Given the description of an element on the screen output the (x, y) to click on. 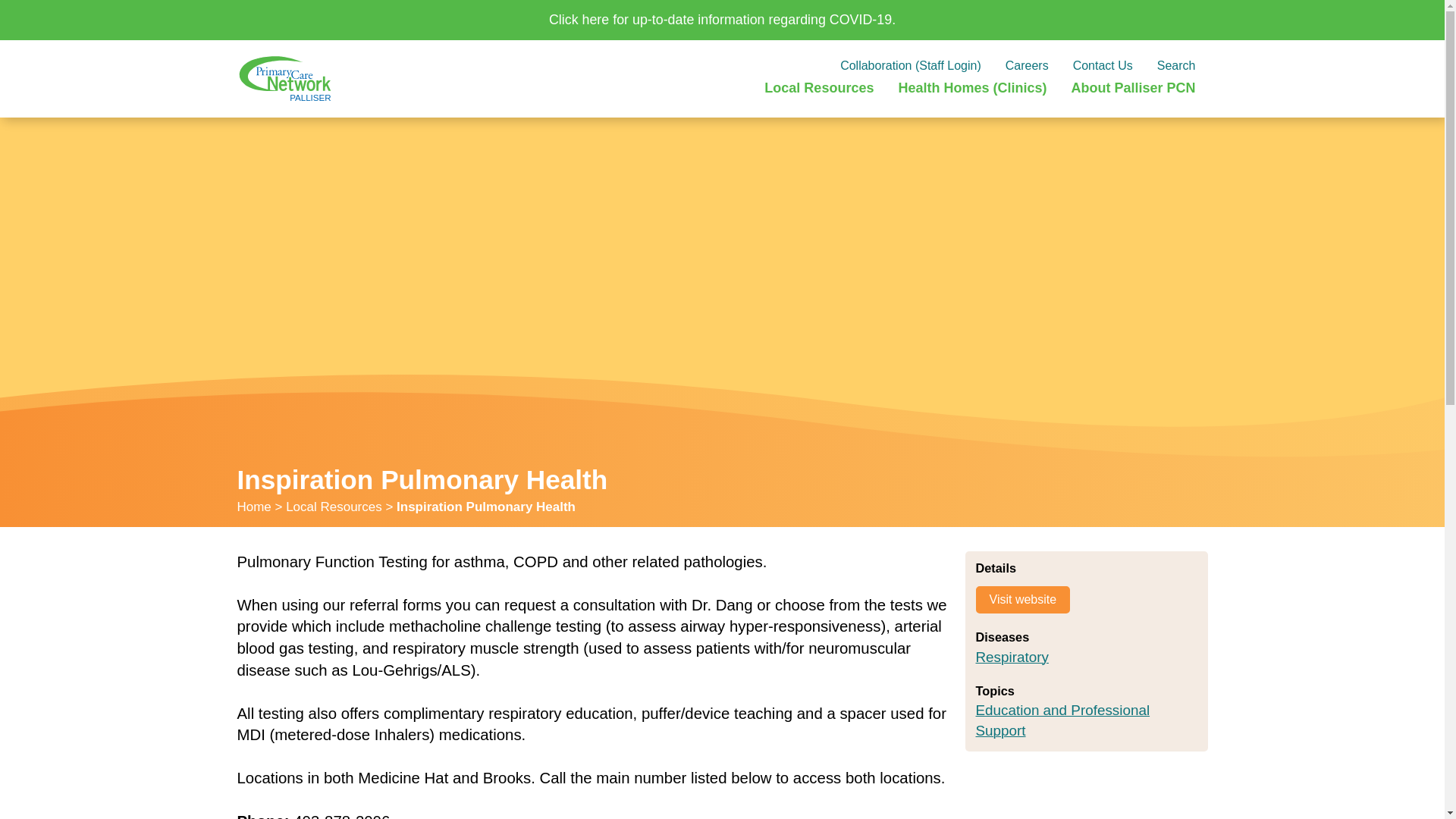
Local Resources (333, 506)
Palliser Primary Care Network (283, 78)
Contact Us (1102, 66)
Local Resources (818, 88)
Go to Local Resources. (333, 506)
Click here for up-to-date information regarding COVID-19. (721, 20)
Visit website (1022, 599)
Local Resources (818, 88)
About Palliser PCN (1132, 88)
Respiratory (1011, 657)
